Given the description of an element on the screen output the (x, y) to click on. 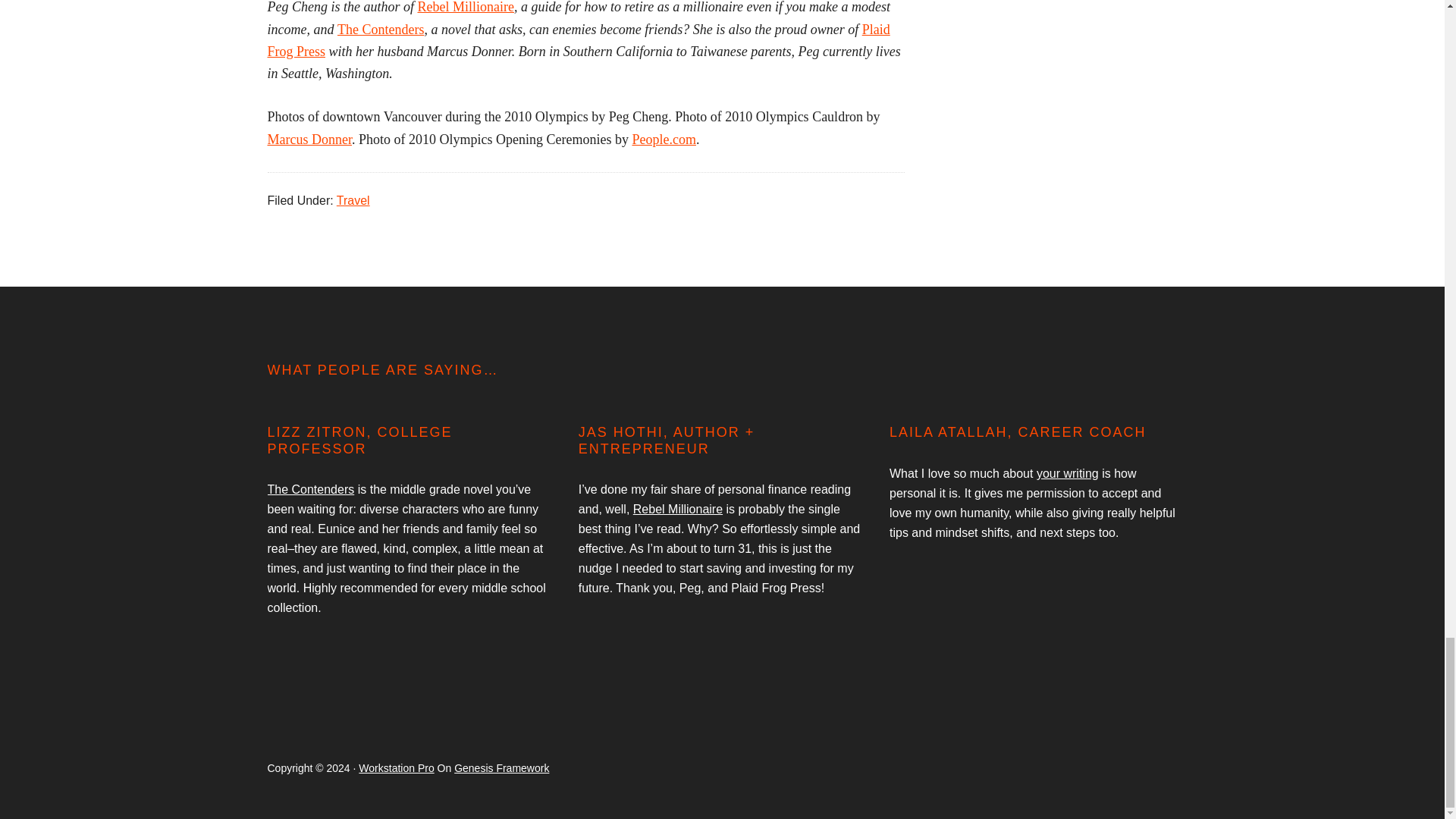
Plaid Frog Press (577, 40)
Travel (352, 200)
Rebel Millionaire (464, 7)
Marcus Donner (308, 139)
People.com (663, 139)
The Contenders (380, 29)
